Given the description of an element on the screen output the (x, y) to click on. 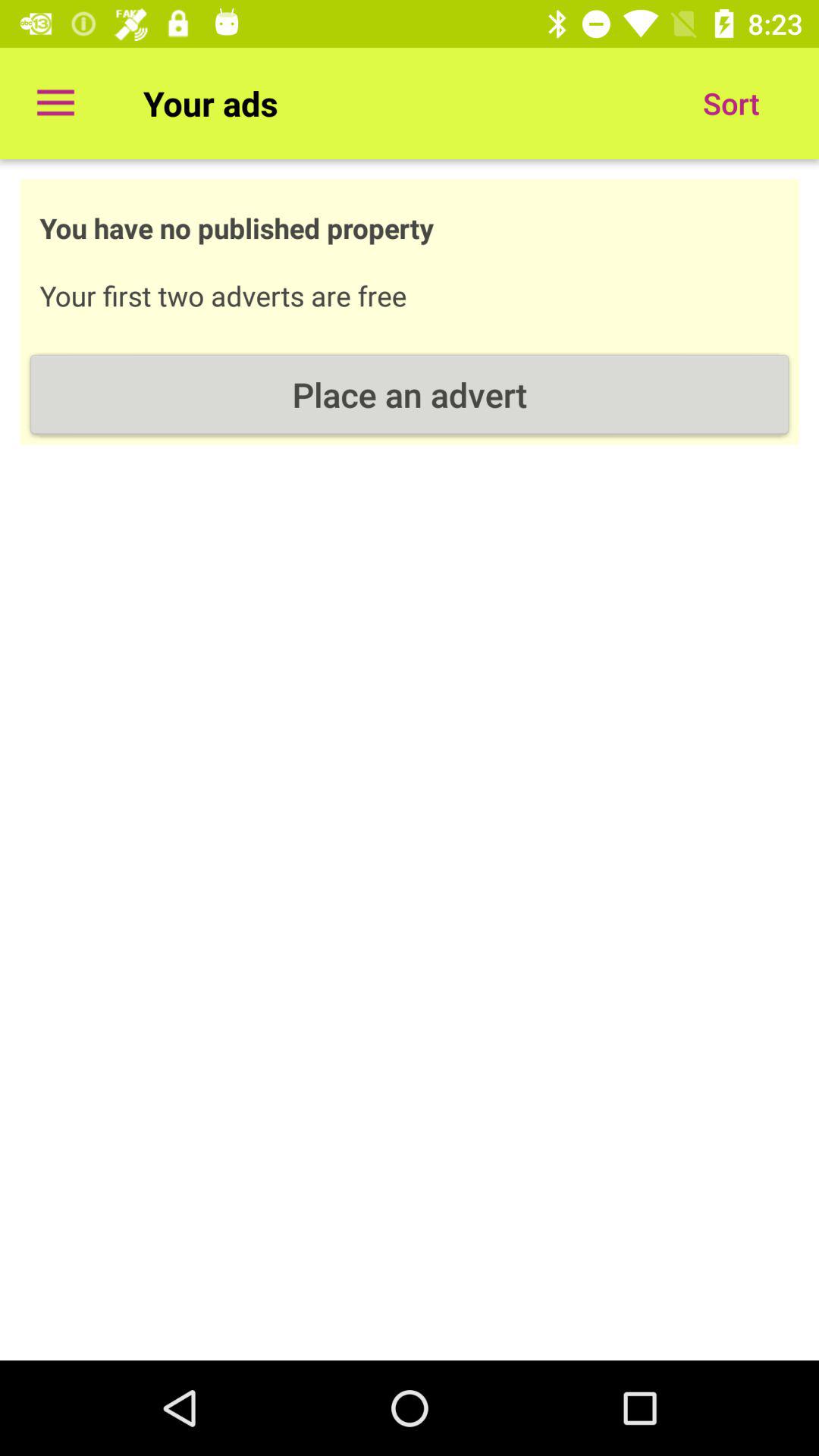
click the item next to the your ads icon (55, 103)
